Given the description of an element on the screen output the (x, y) to click on. 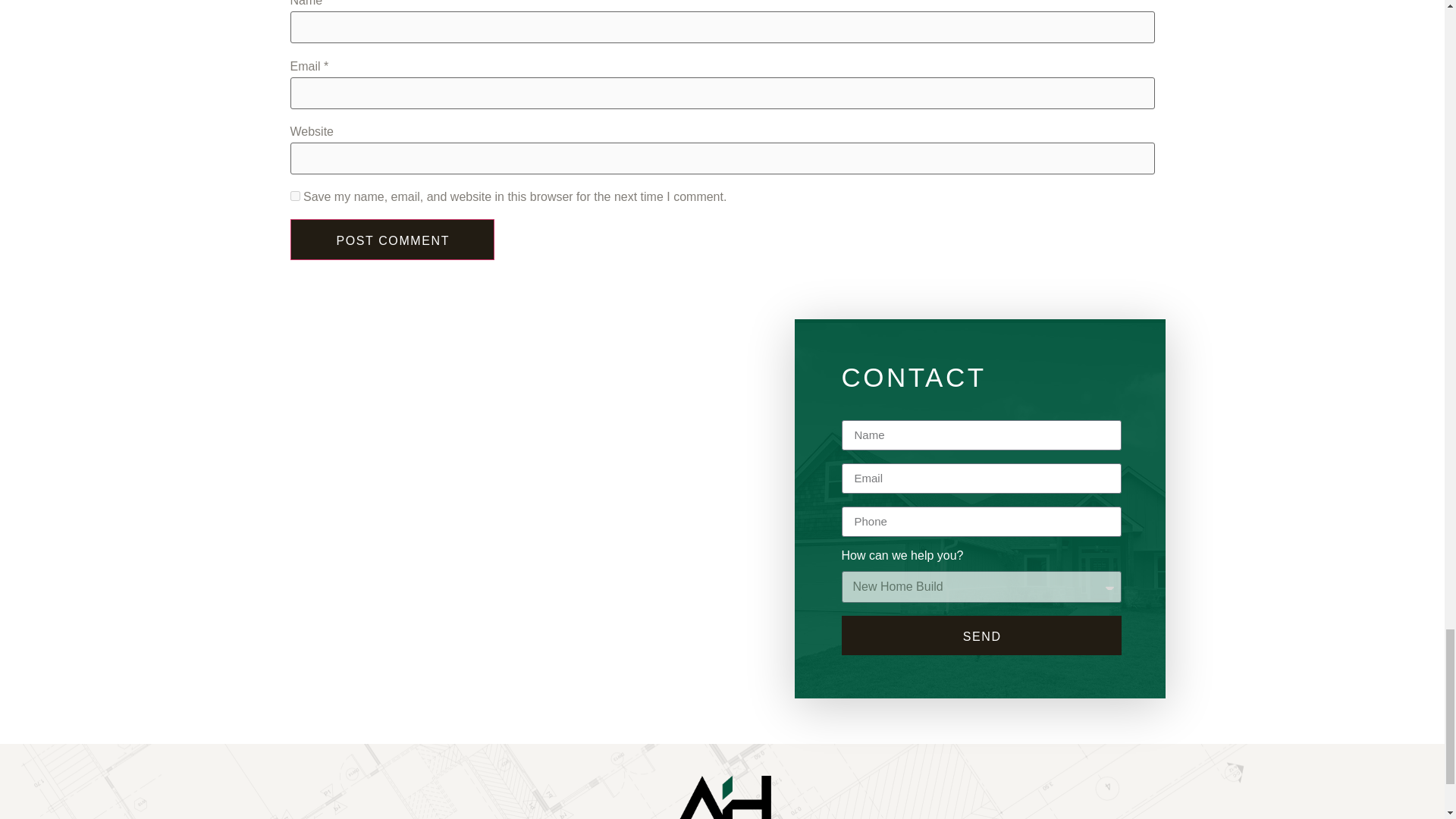
Post Comment (392, 239)
yes (294, 195)
SEND (981, 635)
Post Comment (392, 239)
207 That Way St. Ste. A2 Lake Jackson, TX 77566 (512, 574)
